Given the description of an element on the screen output the (x, y) to click on. 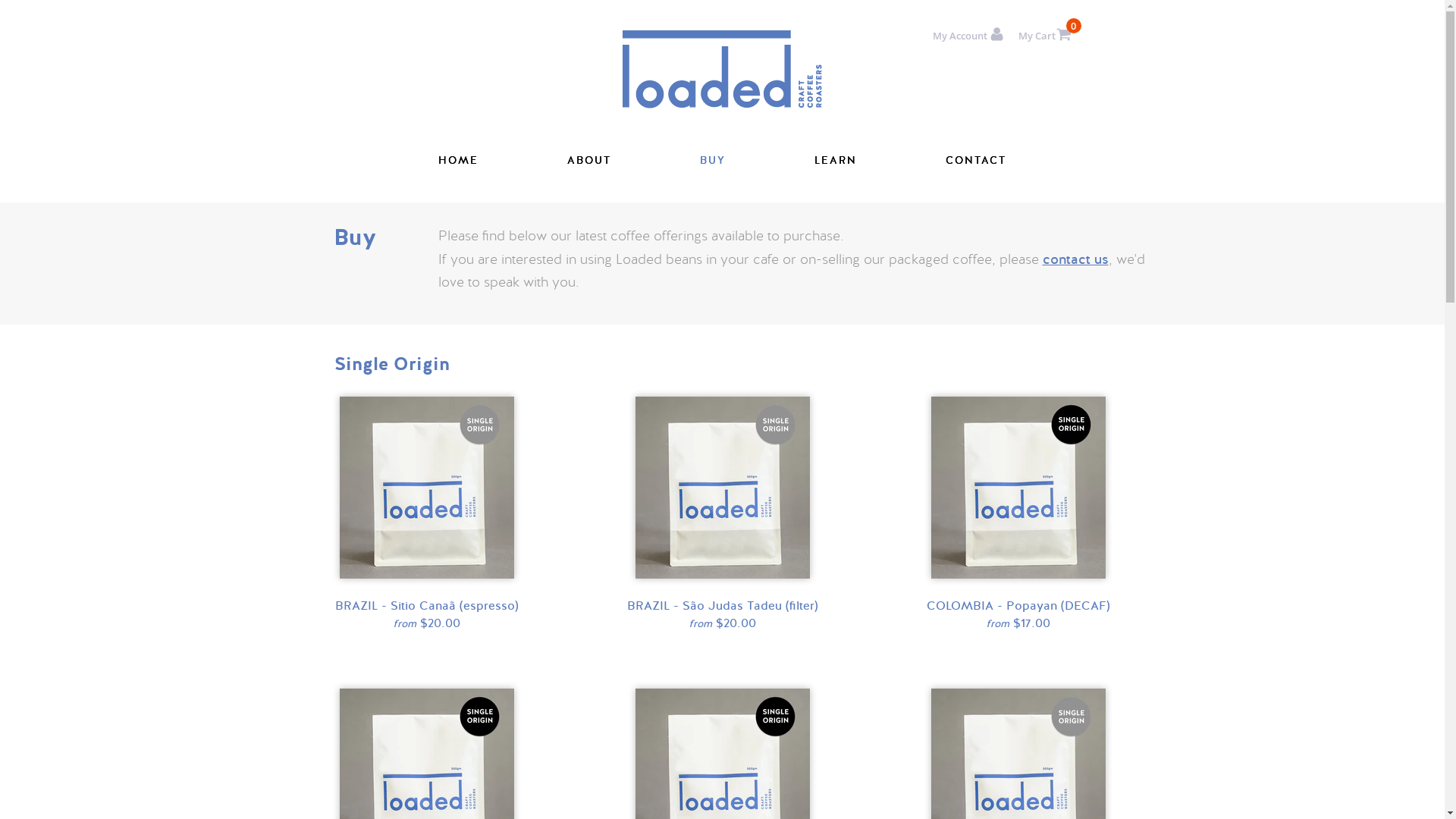
LEARN Element type: text (835, 160)
contact us Element type: text (1074, 259)
BUY Element type: text (712, 160)
Submit Element type: text (742, 536)
Submit Element type: text (446, 536)
View Product Element type: text (426, 427)
COLOMBIA - Popayan (DECAF)
from $17.00 Element type: text (1017, 614)
My Cart
0 Element type: text (1043, 35)
Single Origin Element type: text (722, 364)
Submit Element type: text (150, 536)
View Product Element type: text (722, 719)
ABOUT Element type: text (589, 160)
My Account Element type: text (967, 35)
HOME Element type: text (458, 160)
View Product Element type: text (426, 719)
CONTACT Element type: text (975, 160)
View Product Element type: text (722, 427)
